Given the description of an element on the screen output the (x, y) to click on. 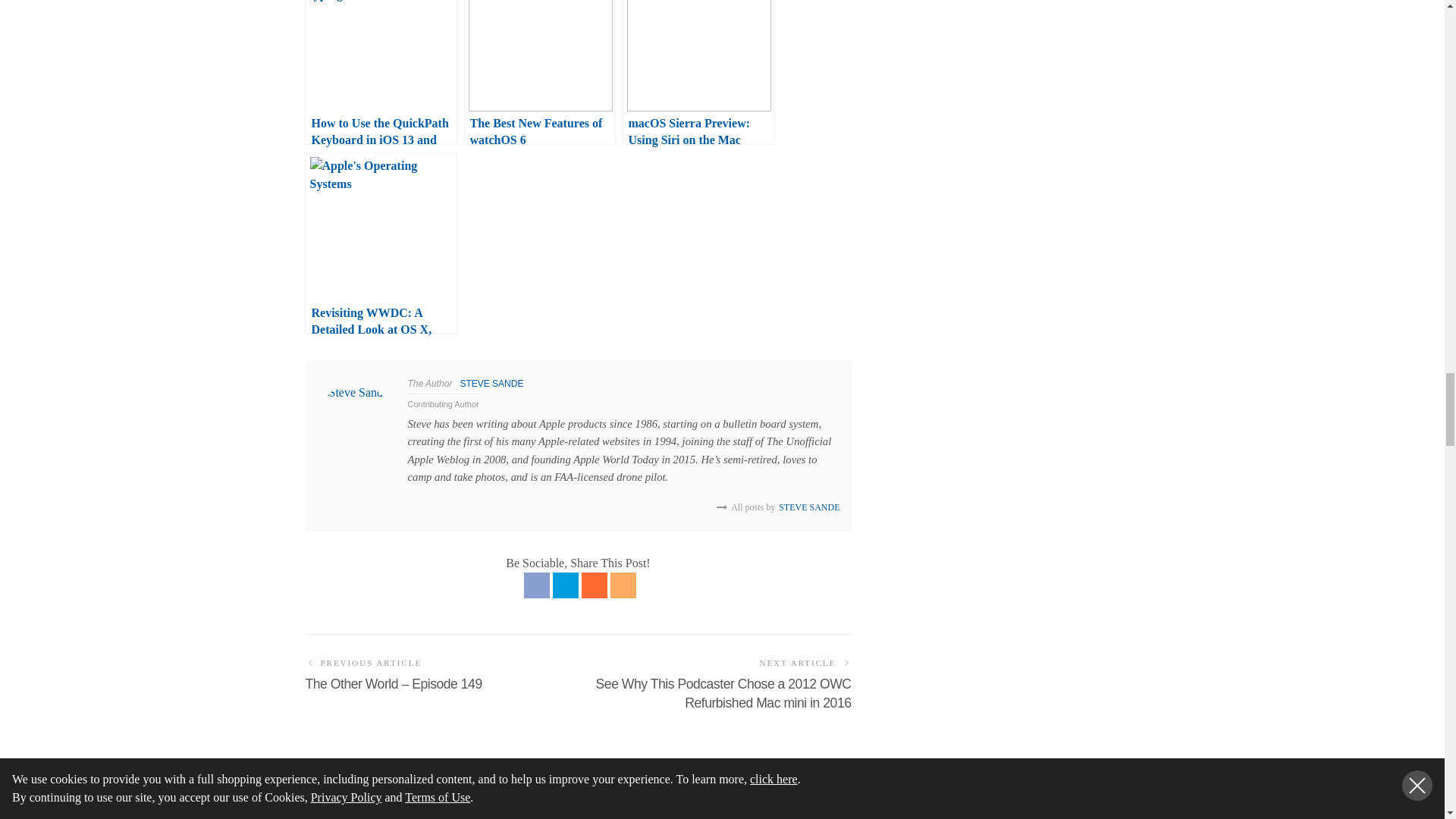
The Best New Features of watchOS 6 (539, 72)
How to Use the QuickPath Keyboard in iOS 13 and iPadOS 13 (380, 72)
macOS Sierra Preview: Using Siri on the Mac (697, 72)
